Given the description of an element on the screen output the (x, y) to click on. 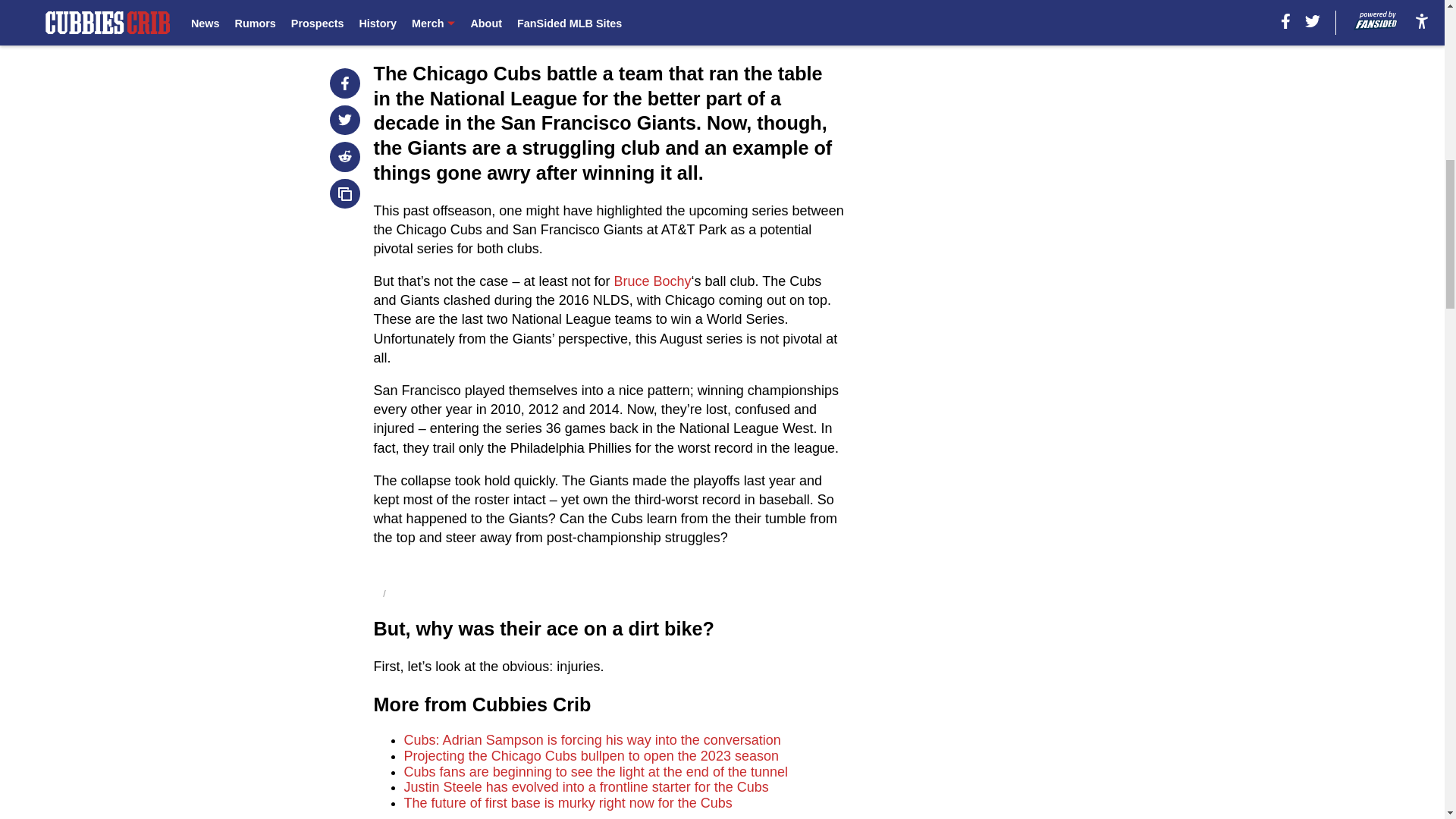
Bruce Bochy (651, 281)
Projecting the Chicago Cubs bullpen to open the 2023 season (591, 755)
